Given the description of an element on the screen output the (x, y) to click on. 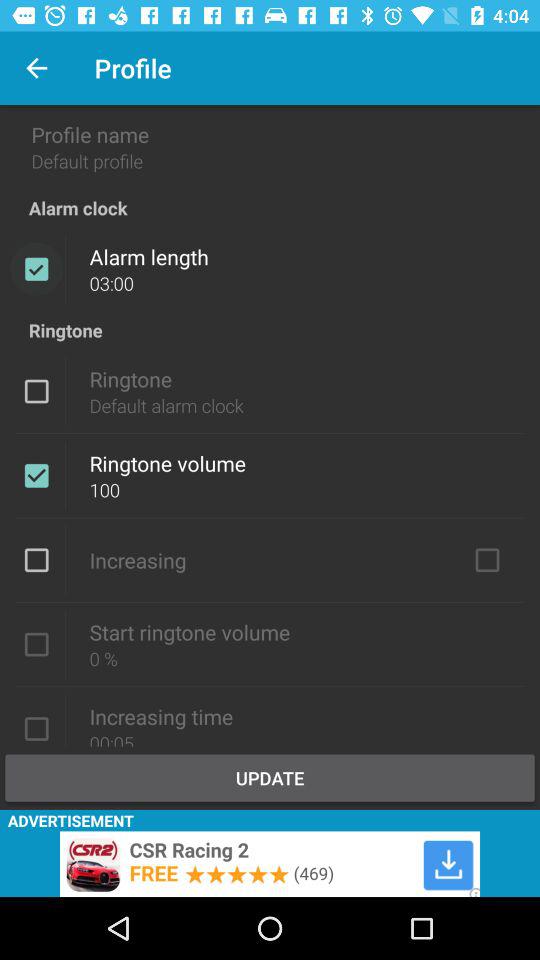
tick the box (36, 560)
